Given the description of an element on the screen output the (x, y) to click on. 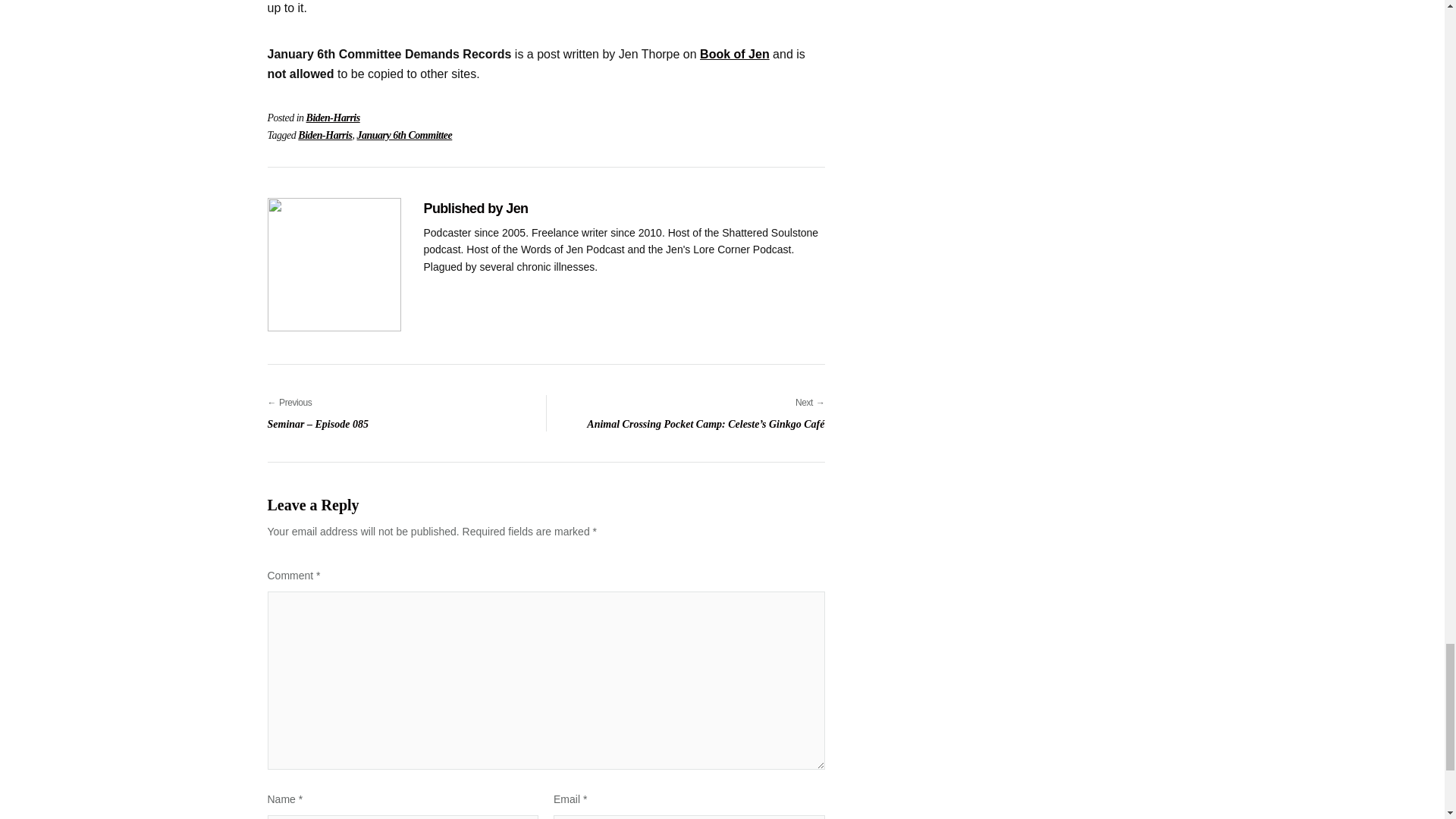
Book of Jen (735, 53)
Biden-Harris (332, 117)
Biden-Harris (325, 134)
January 6th Committee (403, 134)
